Given the description of an element on the screen output the (x, y) to click on. 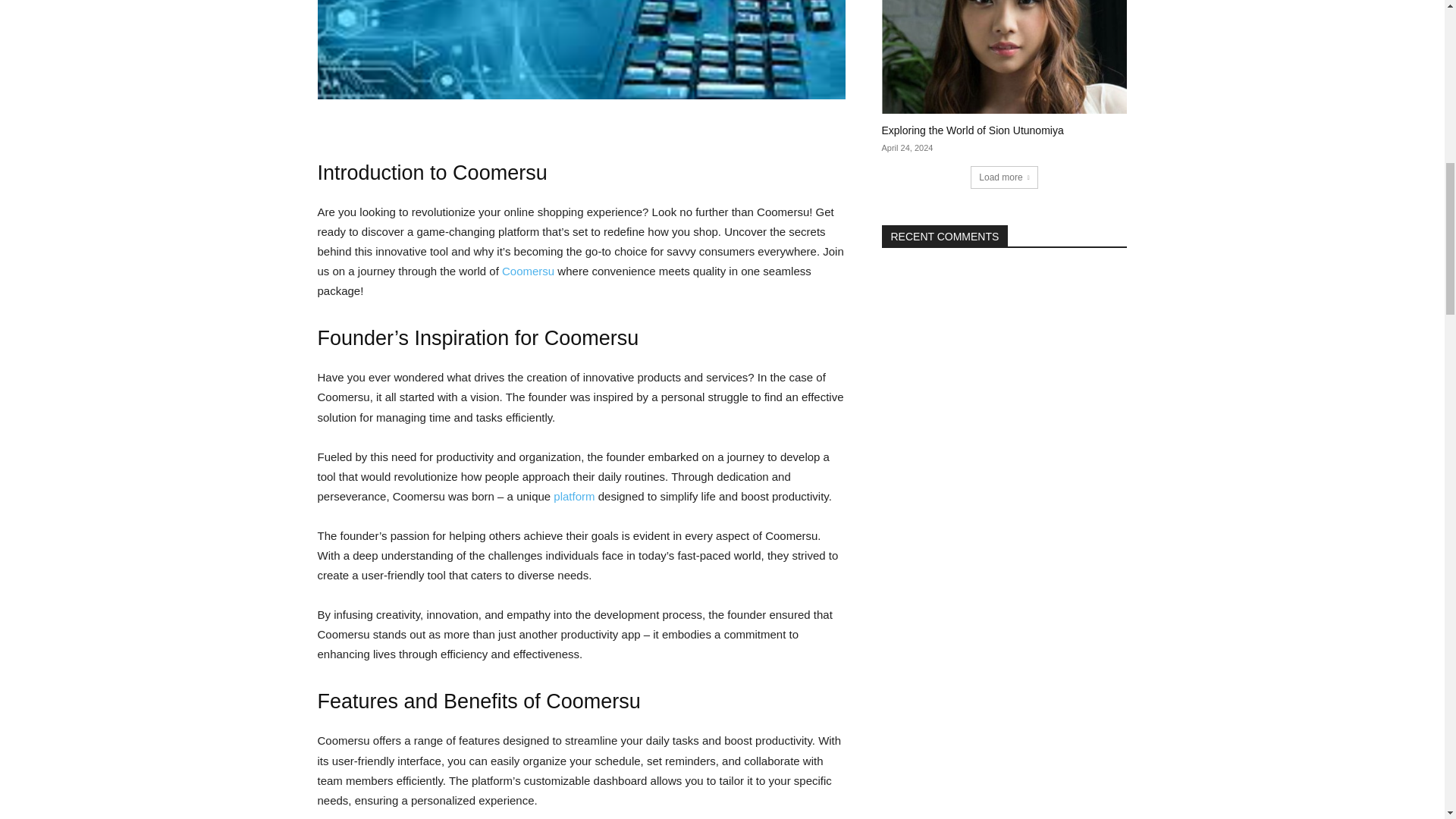
All You Need To Know About Coomersu (580, 49)
